Given the description of an element on the screen output the (x, y) to click on. 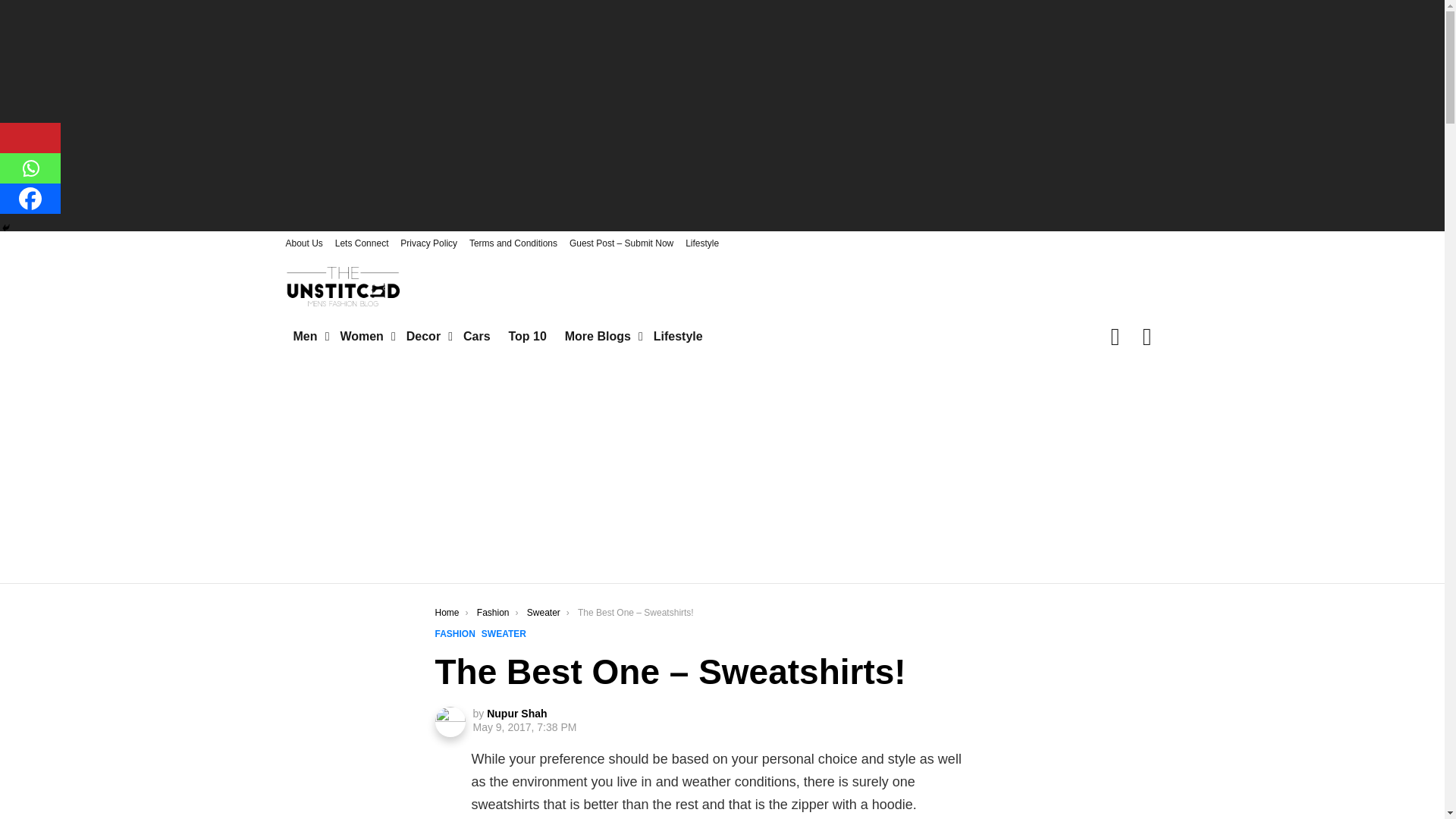
Advertisement (721, 113)
More Blogs (600, 336)
Posts by Nupur Shah (516, 713)
Decor (425, 336)
Cars (476, 336)
Lets Connect (361, 242)
Whatsapp (30, 168)
Terms and Conditions (512, 242)
Lifestyle (678, 336)
Privacy Policy (428, 242)
About Us (303, 242)
Pinterest (30, 137)
Lifestyle (702, 242)
Women (362, 336)
